Given the description of an element on the screen output the (x, y) to click on. 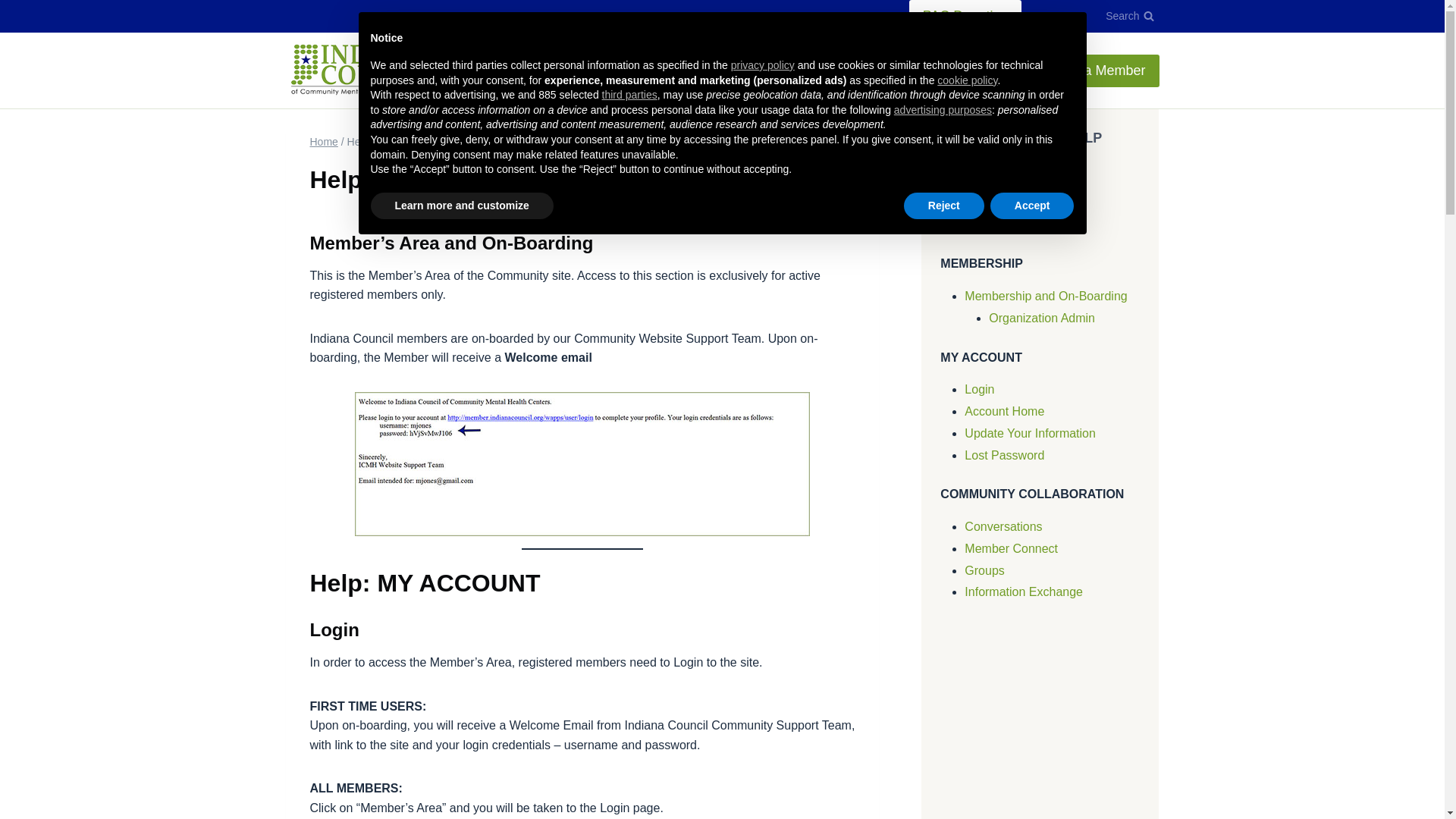
Events (592, 70)
Be a Member (1103, 70)
Partner Program (891, 70)
Contact us (1061, 16)
Members (806, 70)
About (543, 70)
Organization Admin (1041, 318)
PAC Donation (965, 16)
Home (322, 141)
Contact us (992, 224)
